Given the description of an element on the screen output the (x, y) to click on. 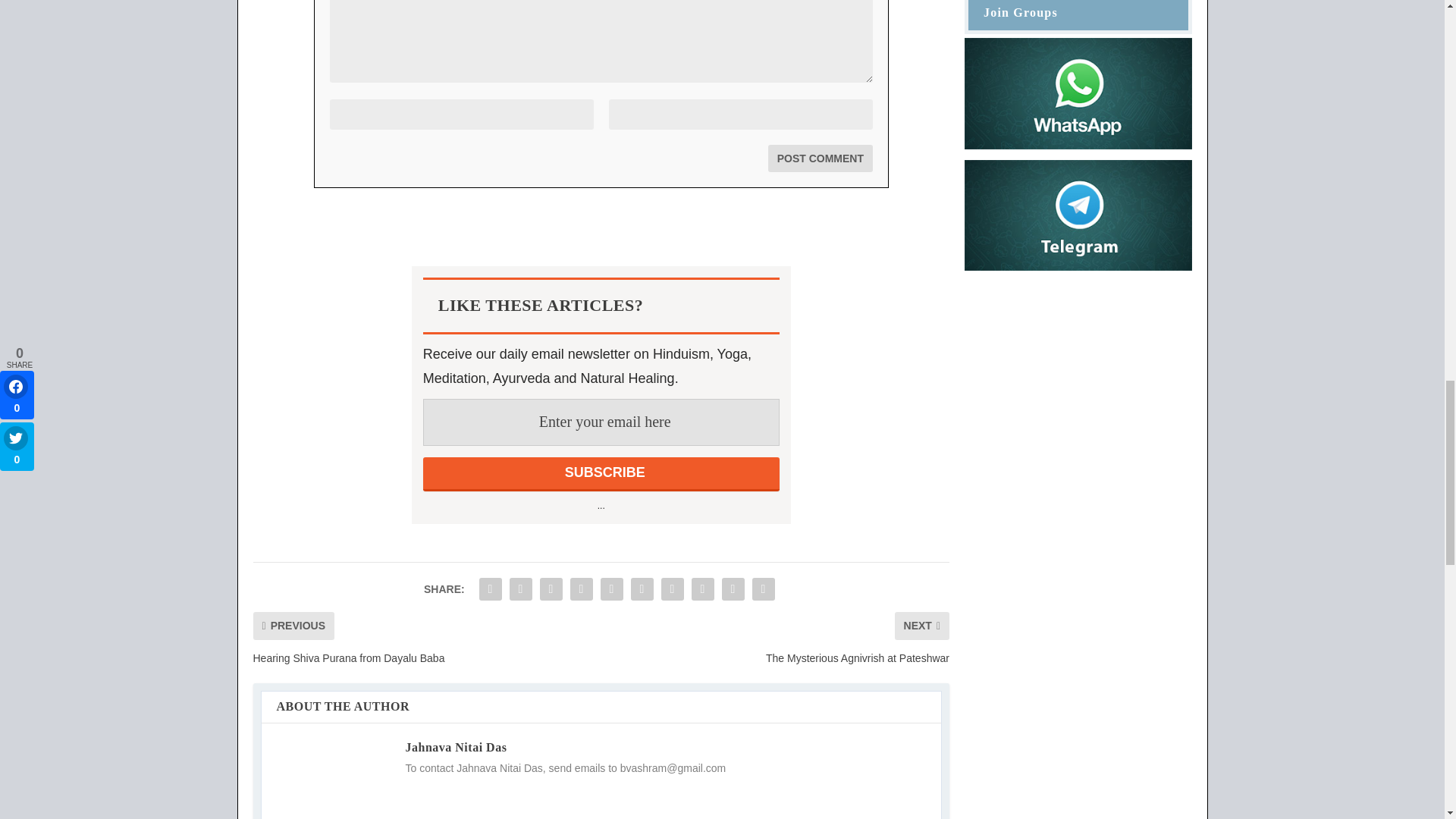
Subscribe (600, 474)
Post Comment (820, 157)
Subscribe (600, 474)
Post Comment (820, 157)
